Given the description of an element on the screen output the (x, y) to click on. 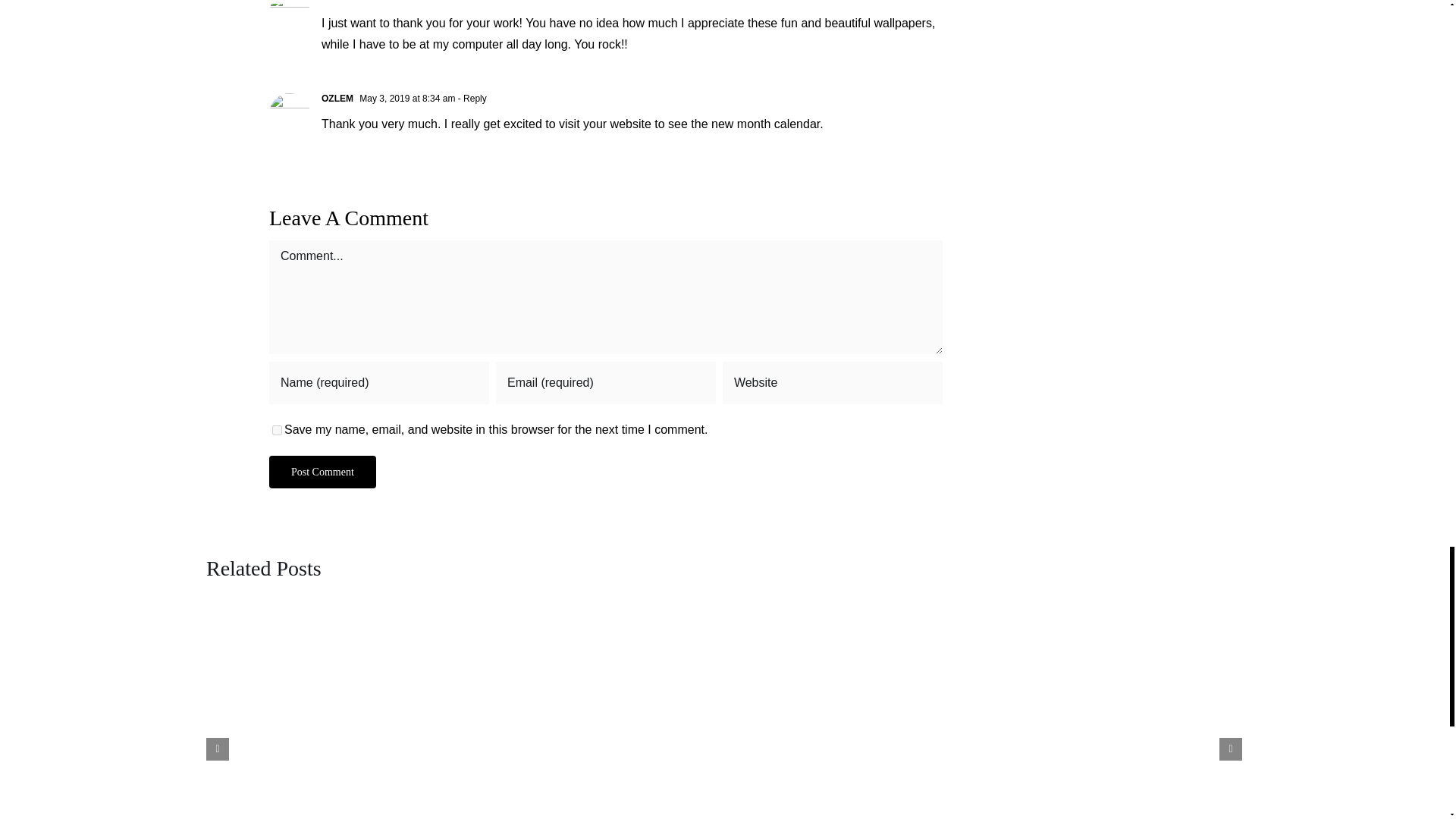
yes (277, 429)
Post Comment (322, 471)
